Given the description of an element on the screen output the (x, y) to click on. 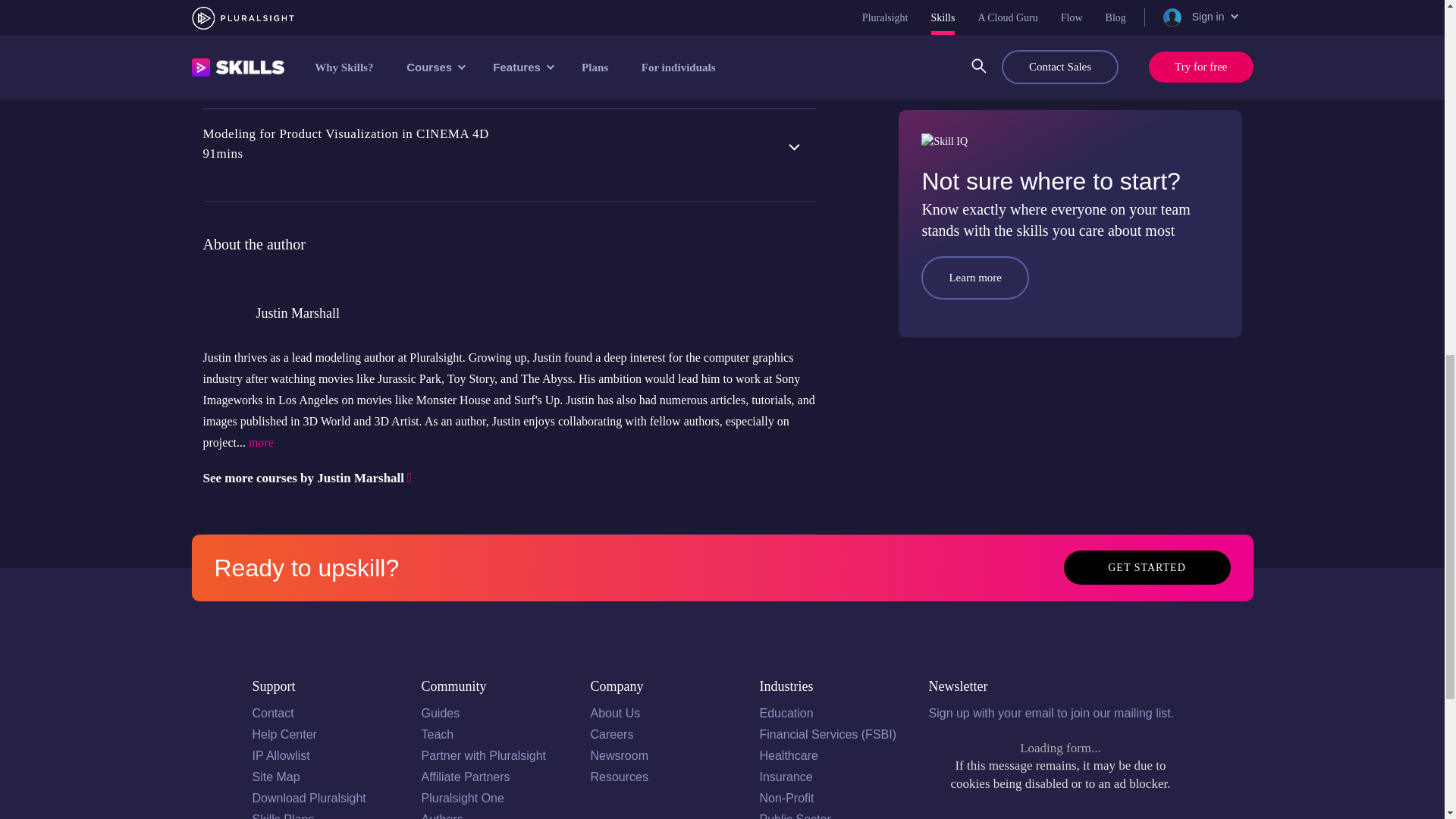
Get started (1146, 567)
